Given the description of an element on the screen output the (x, y) to click on. 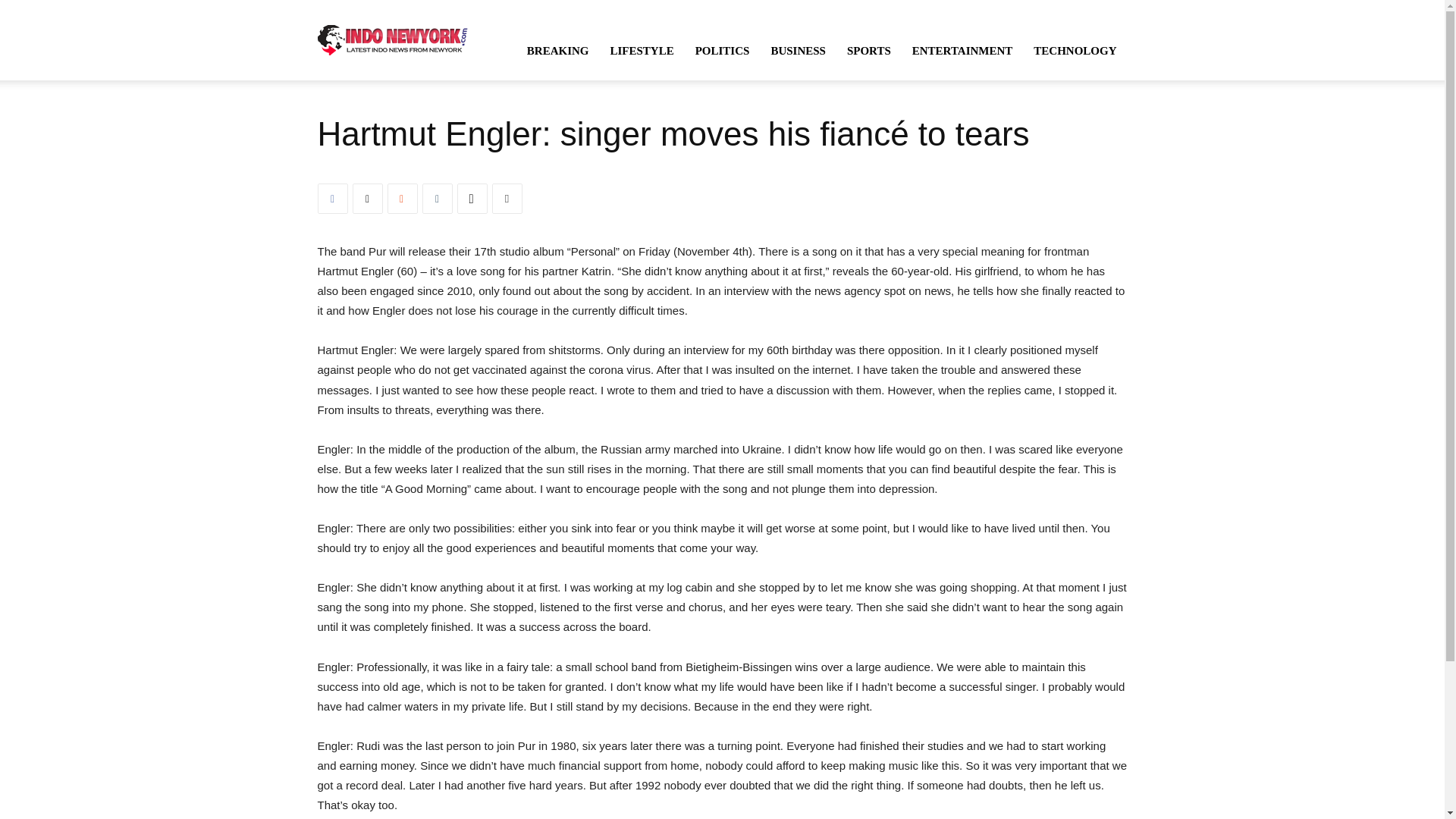
Twitter (366, 198)
Digg (471, 198)
Print (506, 198)
BREAKING (557, 50)
POLITICS (722, 50)
BUSINESS (797, 50)
Indo Newyork (392, 39)
SPORTS (868, 50)
TECHNOLOGY (1074, 50)
ENTERTAINMENT (962, 50)
